Given the description of an element on the screen output the (x, y) to click on. 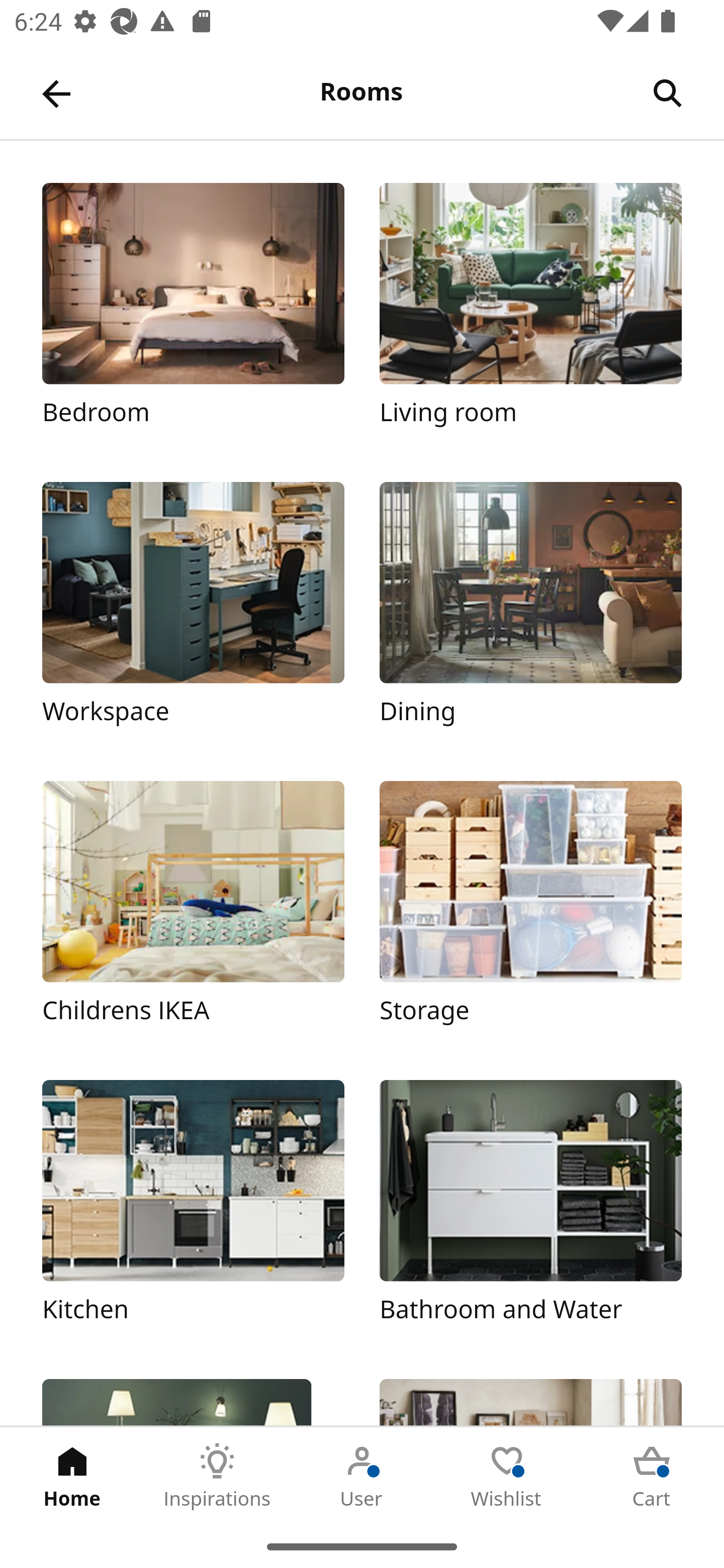
Bedroom (192, 314)
Living room (530, 314)
Workspace (192, 613)
Dining (530, 613)
Childrens IKEA (192, 912)
Storage (530, 912)
Kitchen (192, 1211)
Bathroom and Water (530, 1211)
Home
Tab 1 of 5 (72, 1476)
Inspirations
Tab 2 of 5 (216, 1476)
User
Tab 3 of 5 (361, 1476)
Wishlist
Tab 4 of 5 (506, 1476)
Cart
Tab 5 of 5 (651, 1476)
